Given the description of an element on the screen output the (x, y) to click on. 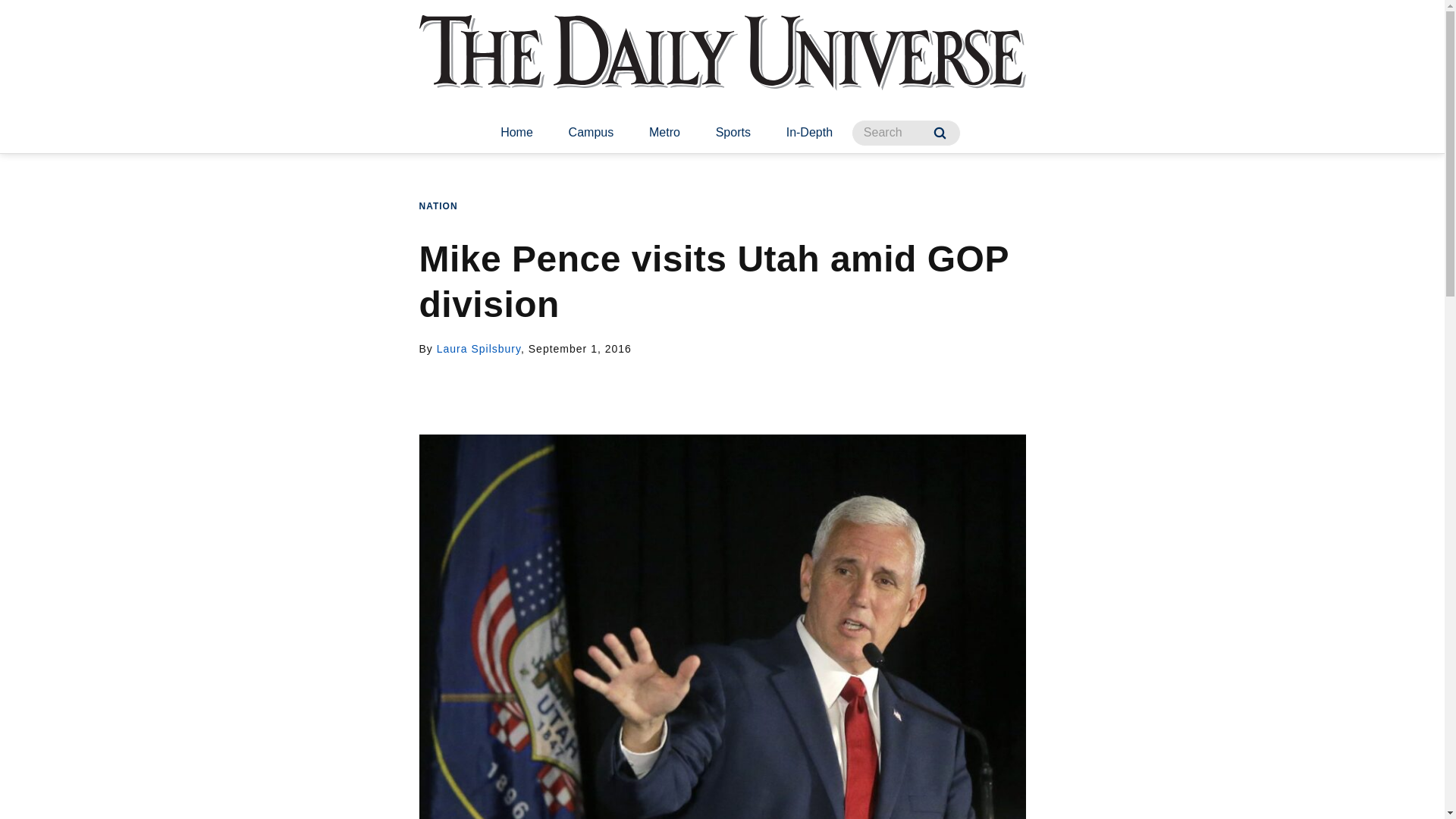
Home (516, 133)
In-Depth (809, 133)
Search (939, 132)
Metro (664, 133)
NATION (438, 206)
Sports (732, 133)
Laura Spilsbury (478, 348)
Campus (590, 133)
